Given the description of an element on the screen output the (x, y) to click on. 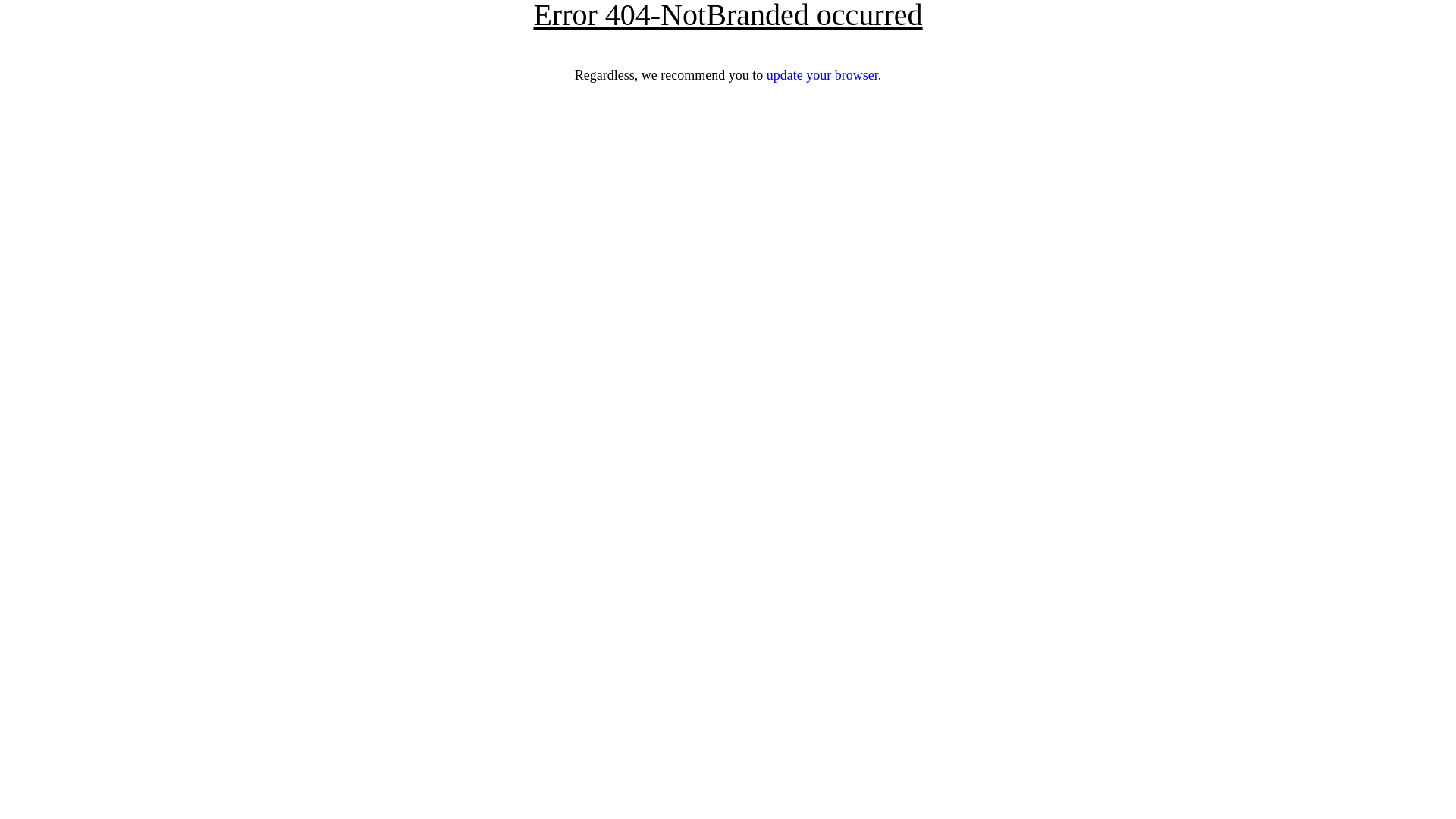
update your browser. Element type: text (823, 74)
